Given the description of an element on the screen output the (x, y) to click on. 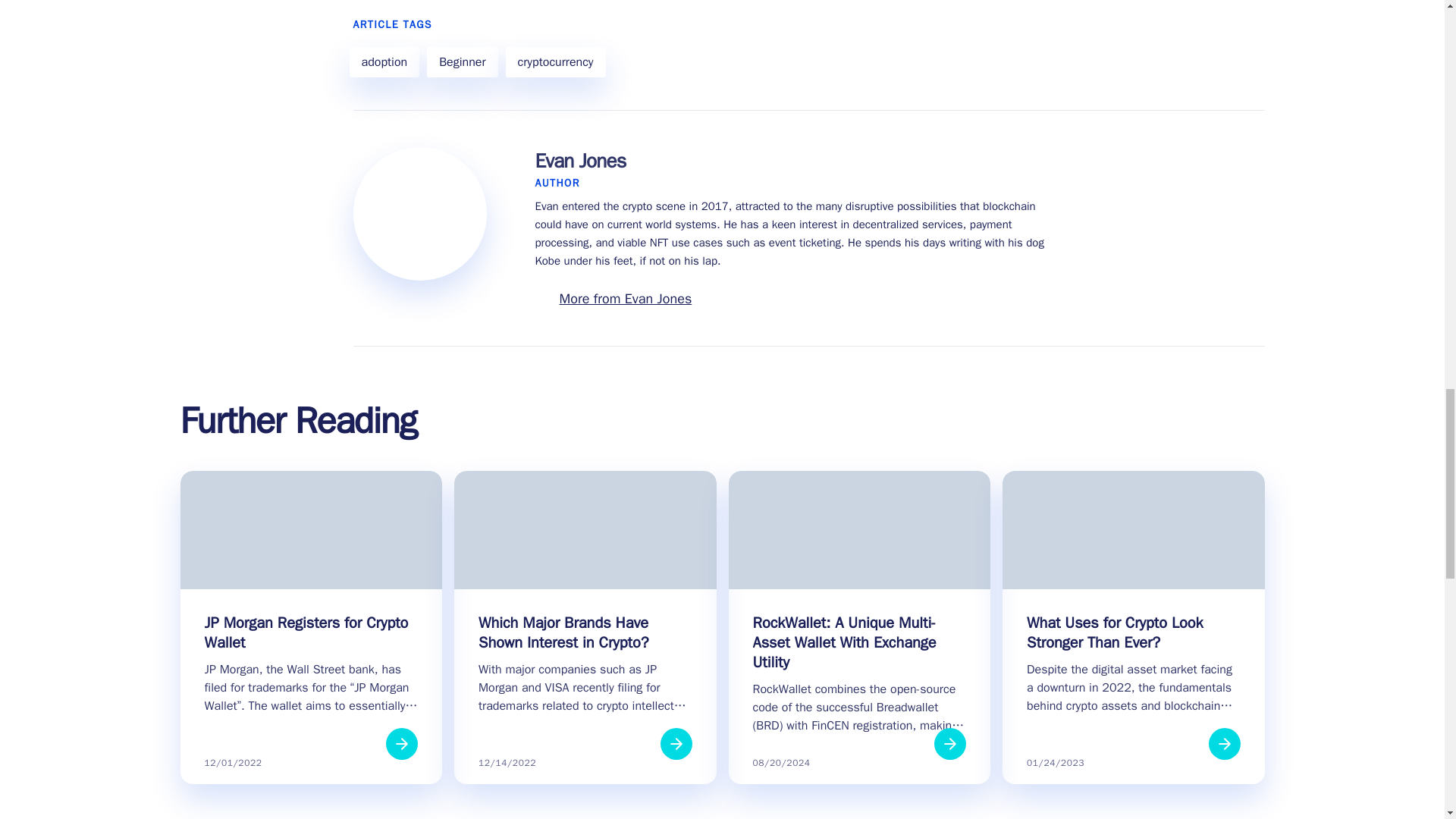
JP Morgan Registers for Crypto Wallet (312, 632)
What Uses for Crypto Look Stronger Than Ever? (1133, 632)
More from Evan Jones (626, 298)
Which Major Brands Have Shown Interest in Crypto? (586, 632)
JP Morgan Registers for Crypto Wallet (312, 632)
Which Major Brands Have Shown Interest in Crypto? (586, 632)
What Uses for Crypto Look Stronger Than Ever? (1133, 632)
